Given the description of an element on the screen output the (x, y) to click on. 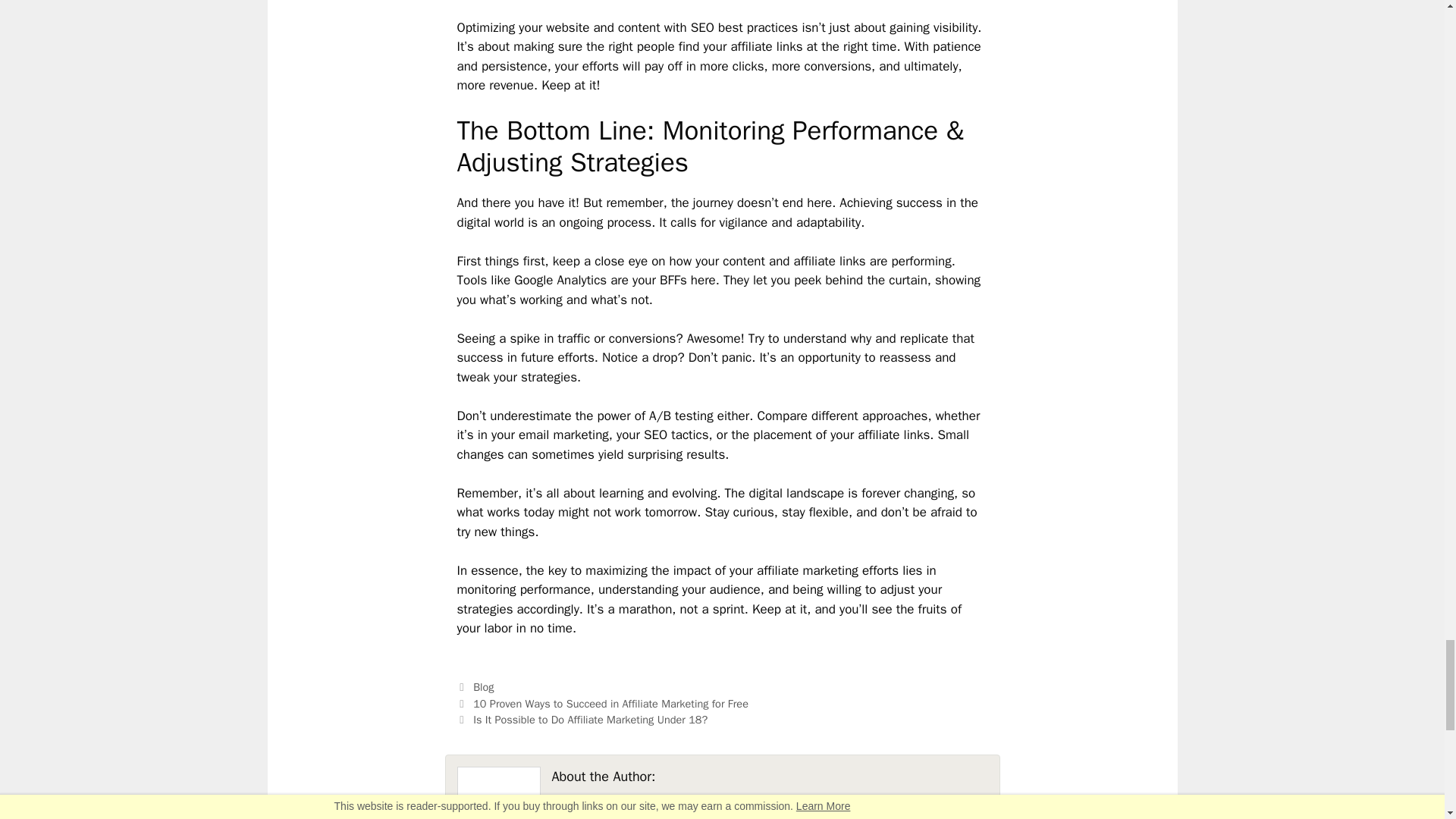
Is It Possible to Do Affiliate Marketing Under 18? (590, 719)
10 Proven Ways to Succeed in Affiliate Marketing for Free (610, 703)
Blog (483, 686)
